Given the description of an element on the screen output the (x, y) to click on. 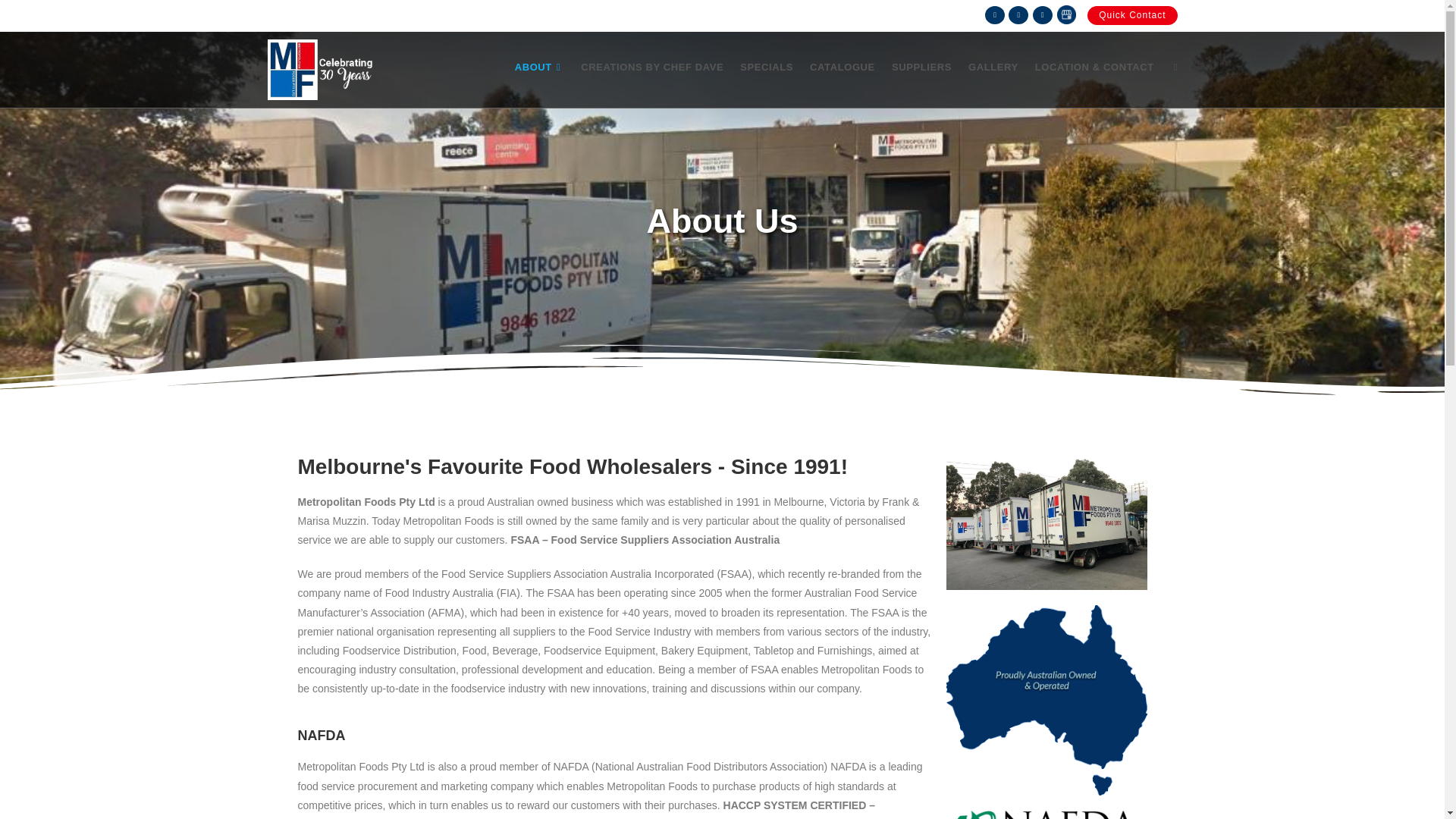
CREATIONS BY CHEF DAVE (652, 67)
Customer Enquiries (392, 13)
SPECIALS (767, 67)
Place Your Order (489, 13)
CATALOGUE (842, 67)
03 9846 1822 (301, 13)
Quick Contact (1131, 15)
SUPPLIERS (921, 67)
GALLERY (992, 67)
ABOUT (539, 67)
